Given the description of an element on the screen output the (x, y) to click on. 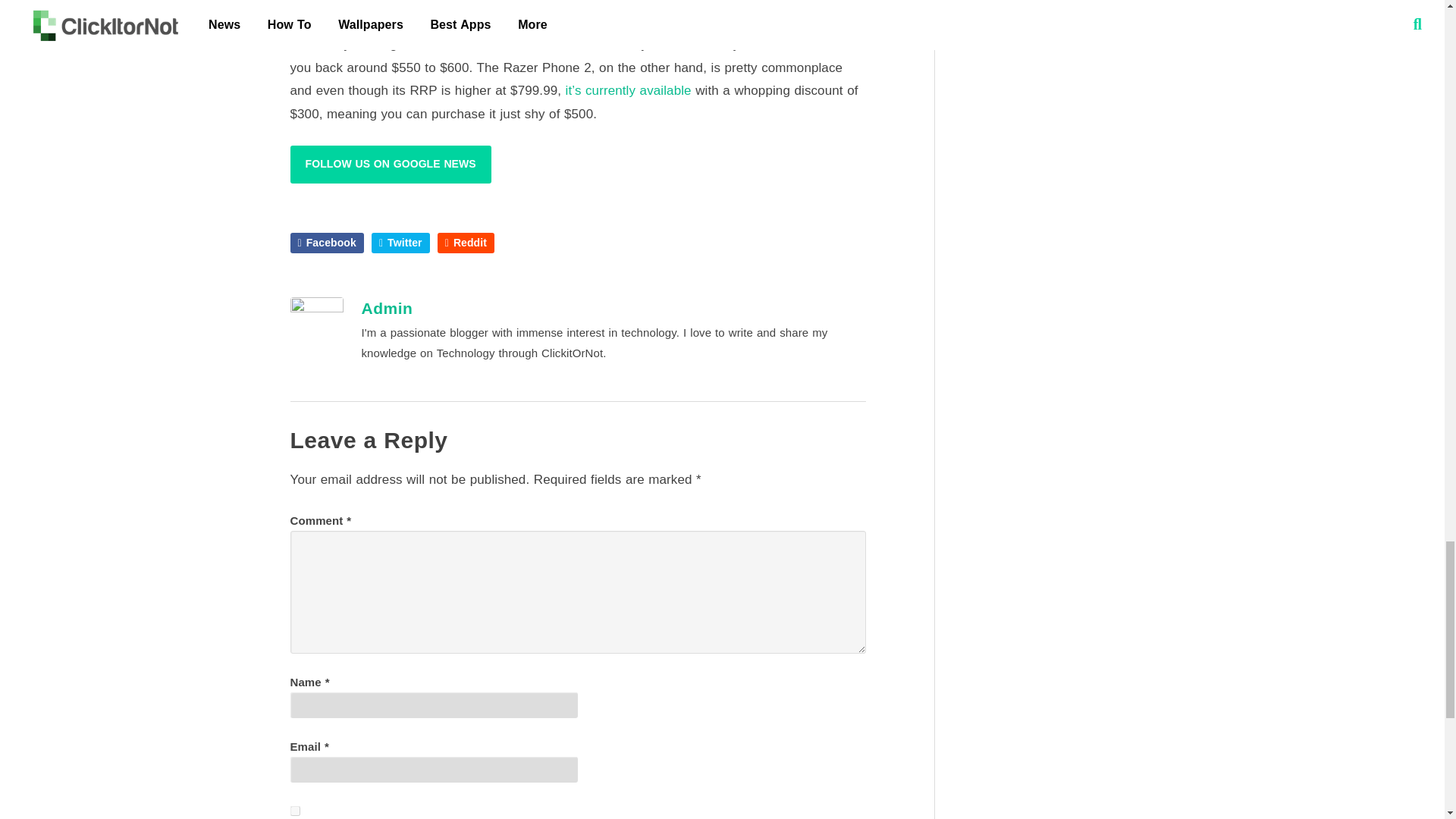
Reddit (466, 242)
Twitter (400, 242)
Admin (386, 307)
yes (294, 810)
Facebook (325, 242)
FOLLOW US ON GOOGLE NEWS (389, 163)
